Given the description of an element on the screen output the (x, y) to click on. 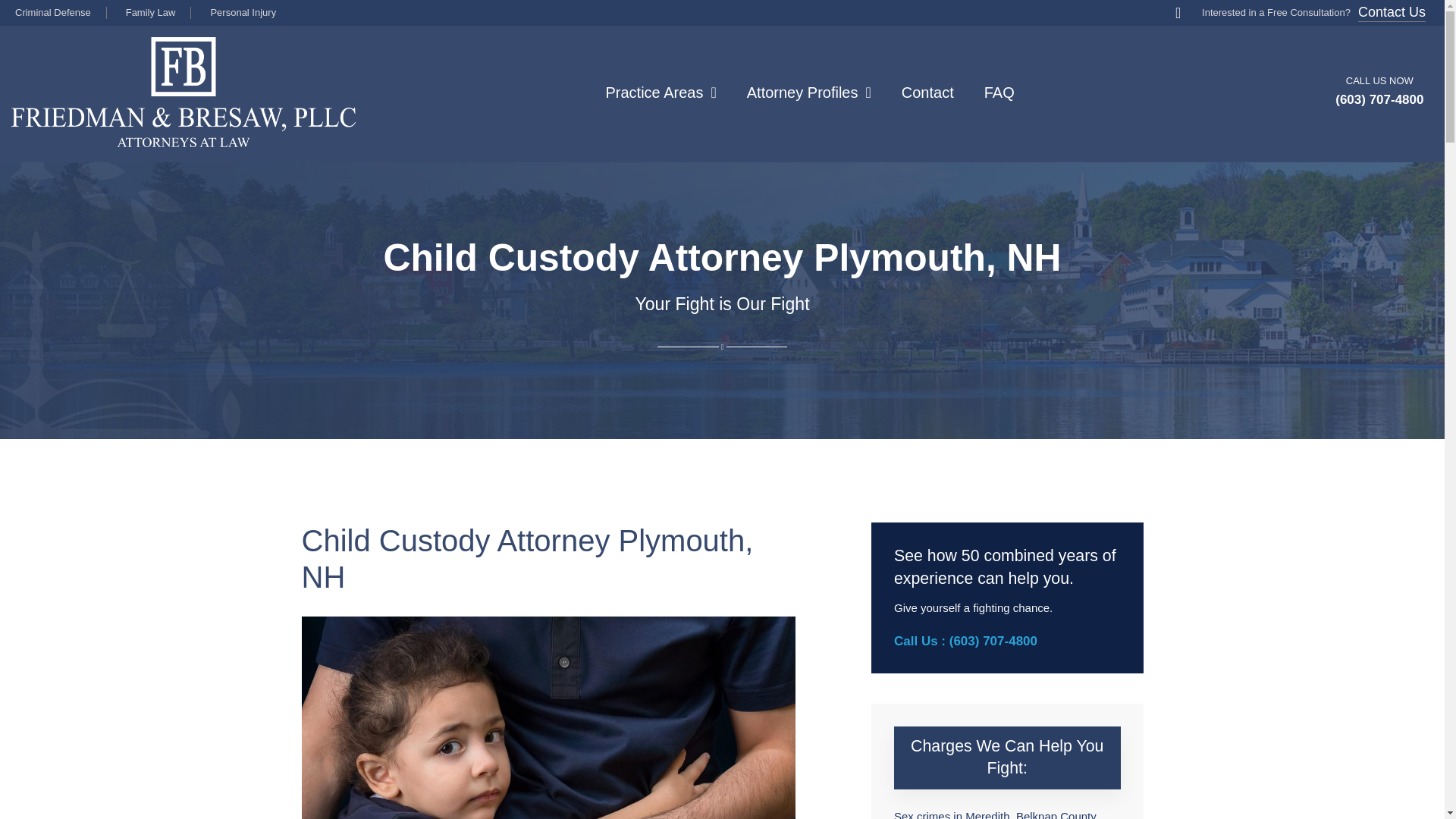
Family Law (149, 12)
Contact Us (1391, 13)
Interested in a Free Consultation? (1262, 12)
Practice Areas (660, 92)
Personal Injury (241, 12)
Attorney Profiles (808, 92)
Contact (927, 92)
FAQ (999, 92)
Criminal Defense (50, 12)
